Given the description of an element on the screen output the (x, y) to click on. 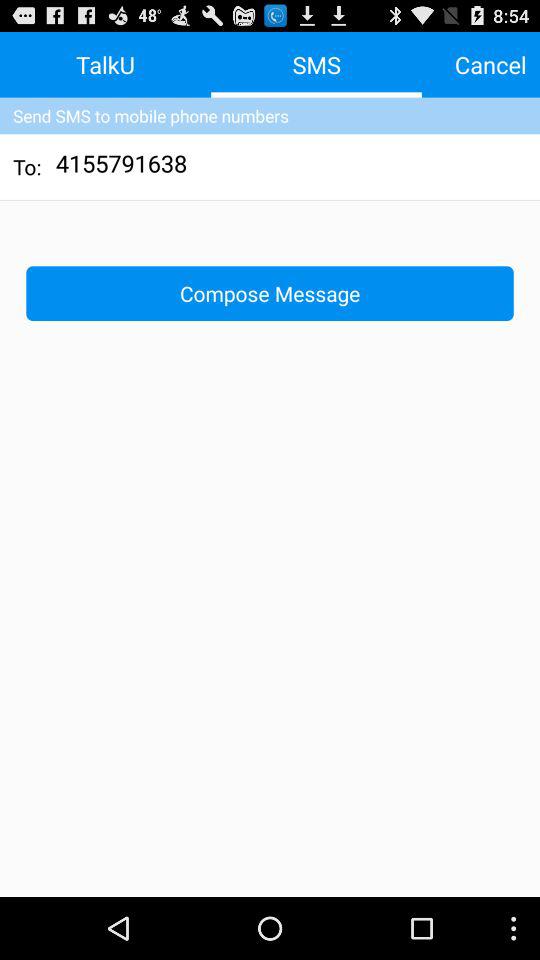
turn on compose message (269, 292)
